Given the description of an element on the screen output the (x, y) to click on. 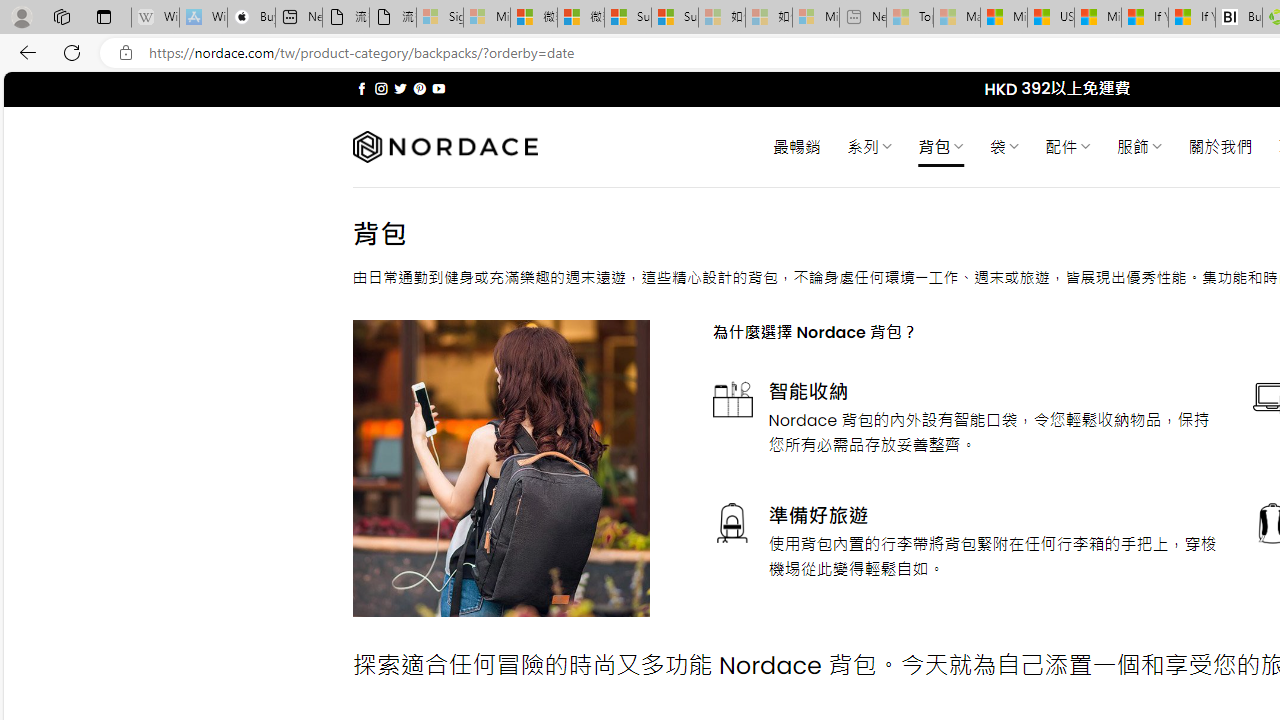
Follow on Instagram (381, 88)
Follow on Twitter (400, 88)
